Given the description of an element on the screen output the (x, y) to click on. 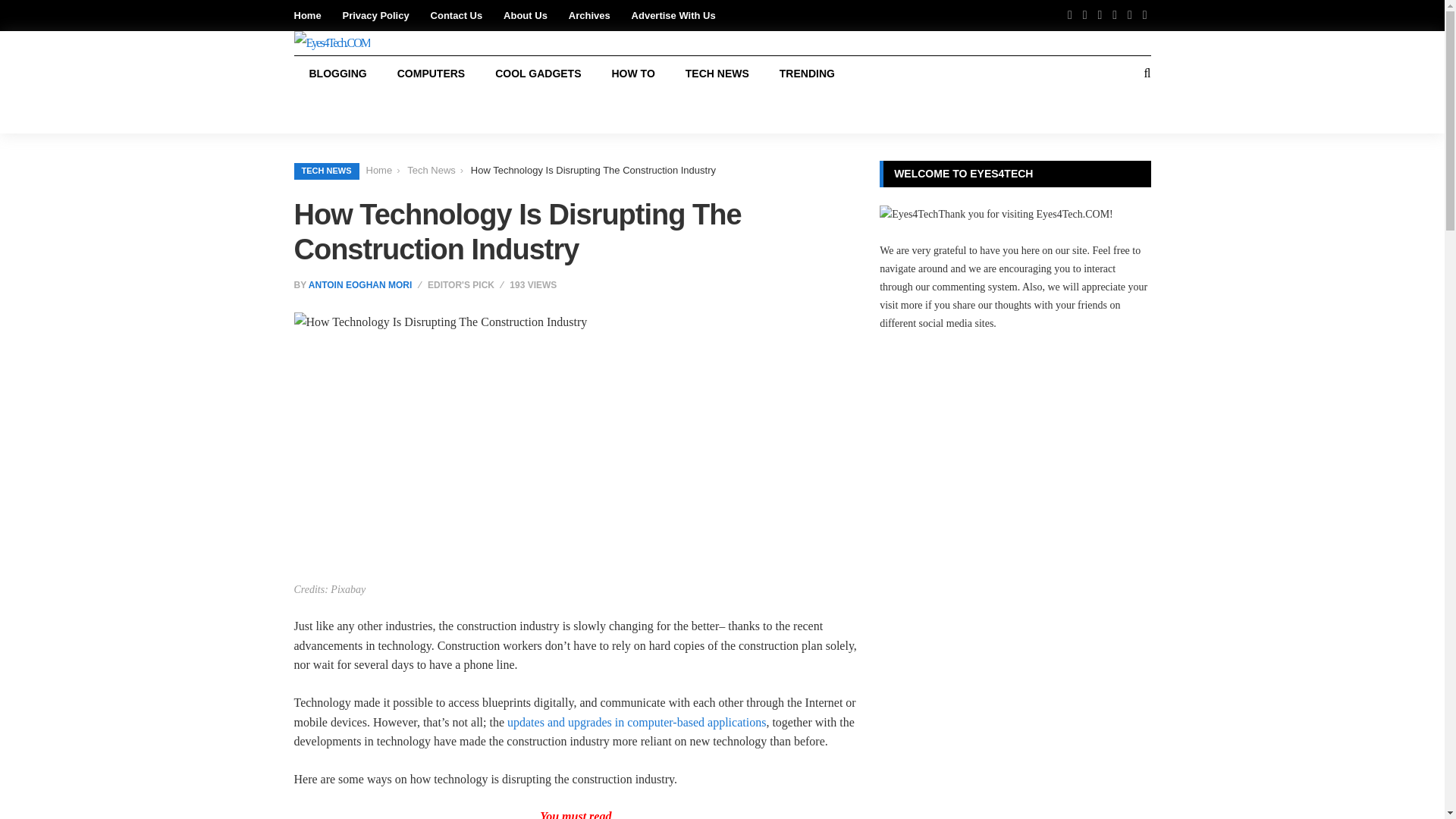
All about blogging (337, 73)
Archives (589, 15)
Advertise With Us (673, 15)
